Given the description of an element on the screen output the (x, y) to click on. 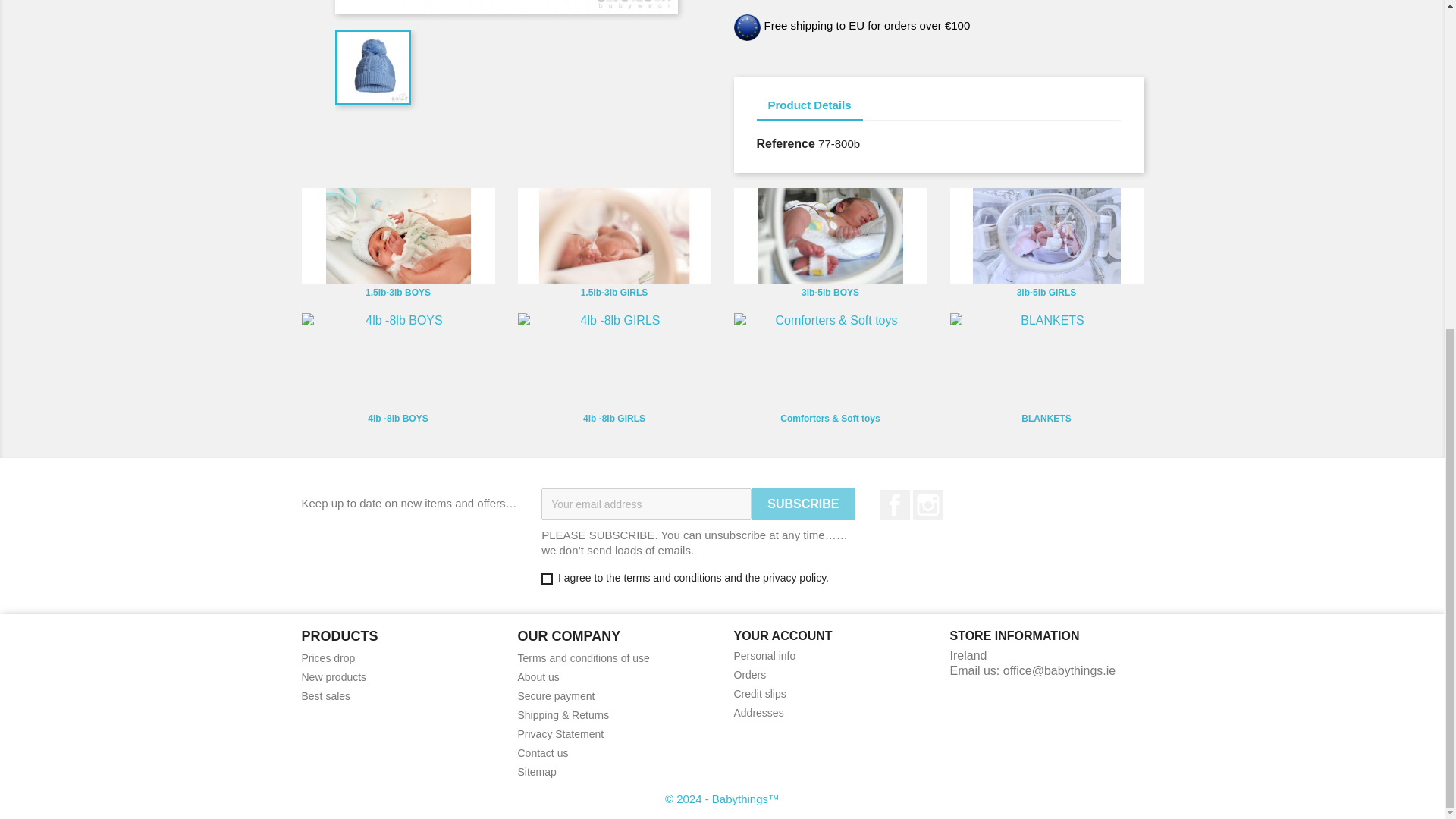
3lb-5lb GIRLS (1045, 236)
1.5lb-3lb BOYS (398, 236)
Prices drop (328, 657)
3lb-5lb GIRLS (1046, 292)
4lb -8lb GIRLS (614, 418)
Product Details (810, 106)
Subscribe (802, 504)
4lb -8lb BOYS (398, 418)
4lb -8lb GIRLS (613, 361)
3lb-5lb BOYS (830, 292)
